Given the description of an element on the screen output the (x, y) to click on. 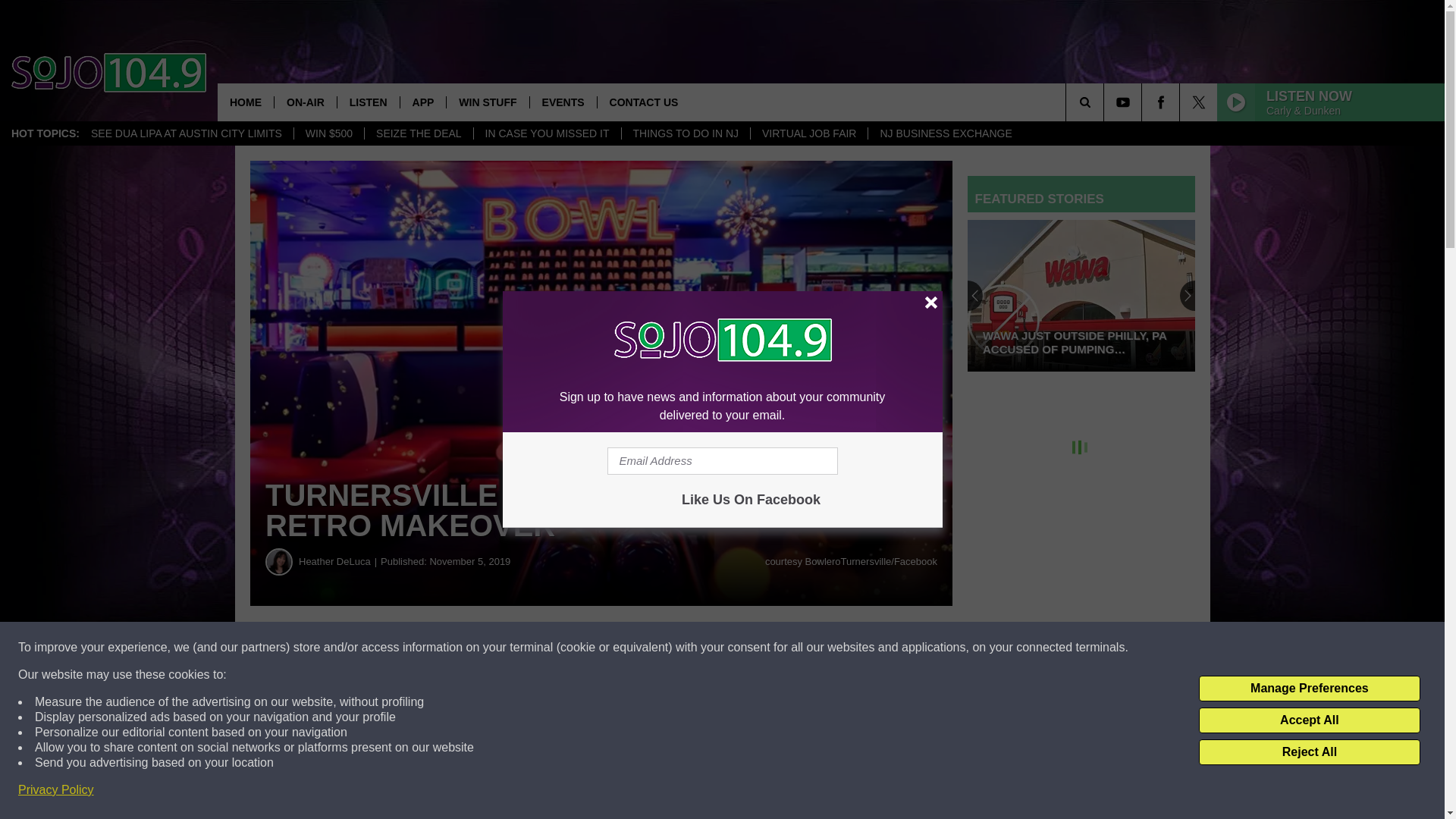
THINGS TO DO IN NJ (684, 133)
SEIZE THE DEAL (418, 133)
IN CASE YOU MISSED IT (547, 133)
Accept All (1309, 720)
SEARCH (1106, 102)
VIRTUAL JOB FAIR (808, 133)
WIN STUFF (486, 102)
SEE DUA LIPA AT AUSTIN CITY LIMITS (187, 133)
SEARCH (1106, 102)
Reject All (1309, 751)
HOME (244, 102)
Manage Preferences (1309, 688)
Email Address (722, 461)
APP (422, 102)
ON-AIR (304, 102)
